Given the description of an element on the screen output the (x, y) to click on. 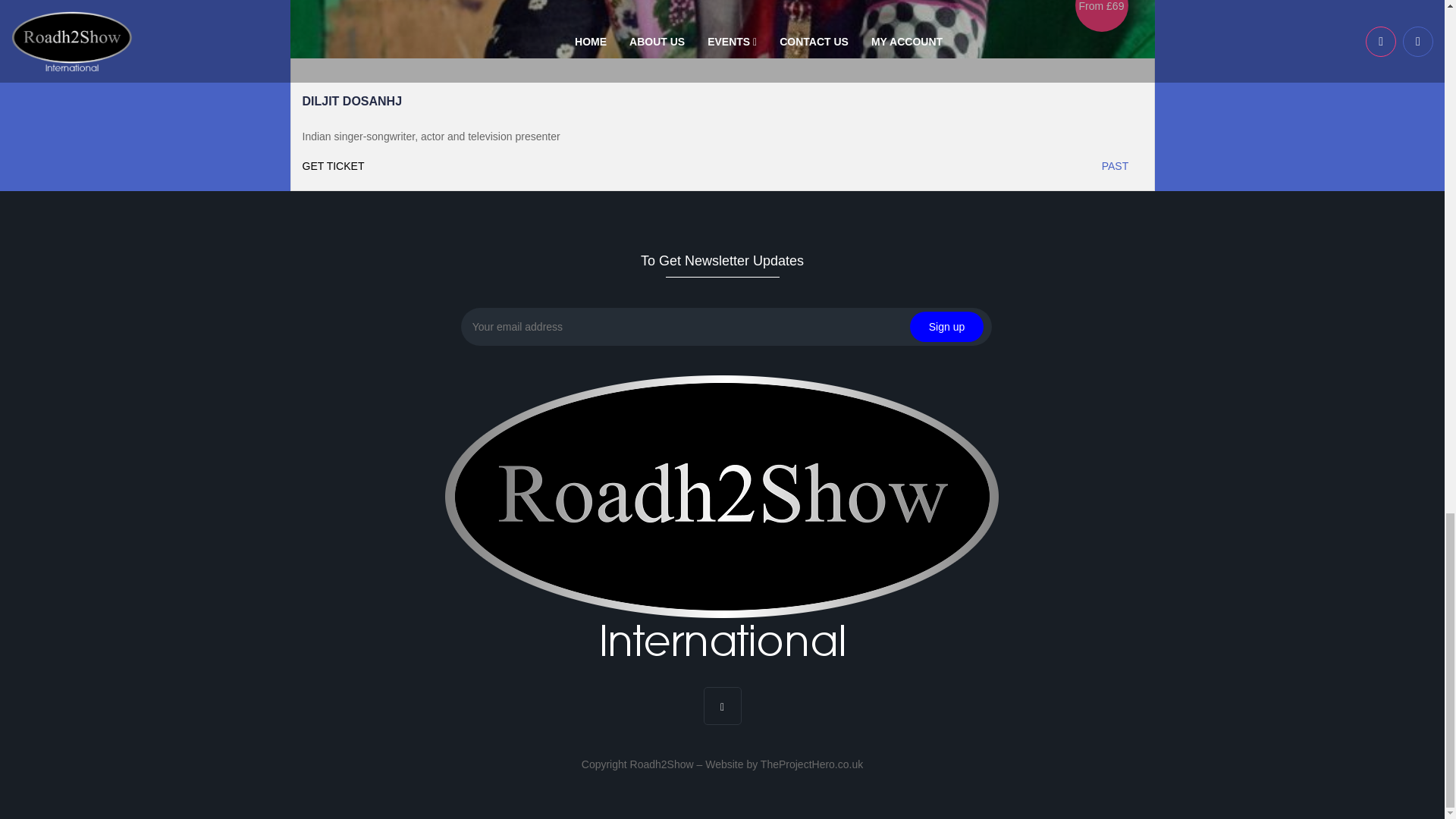
GET TICKET (511, 166)
Sign up (947, 327)
Sign up (947, 327)
DILJIT DOSANHJ (351, 101)
